Given the description of an element on the screen output the (x, y) to click on. 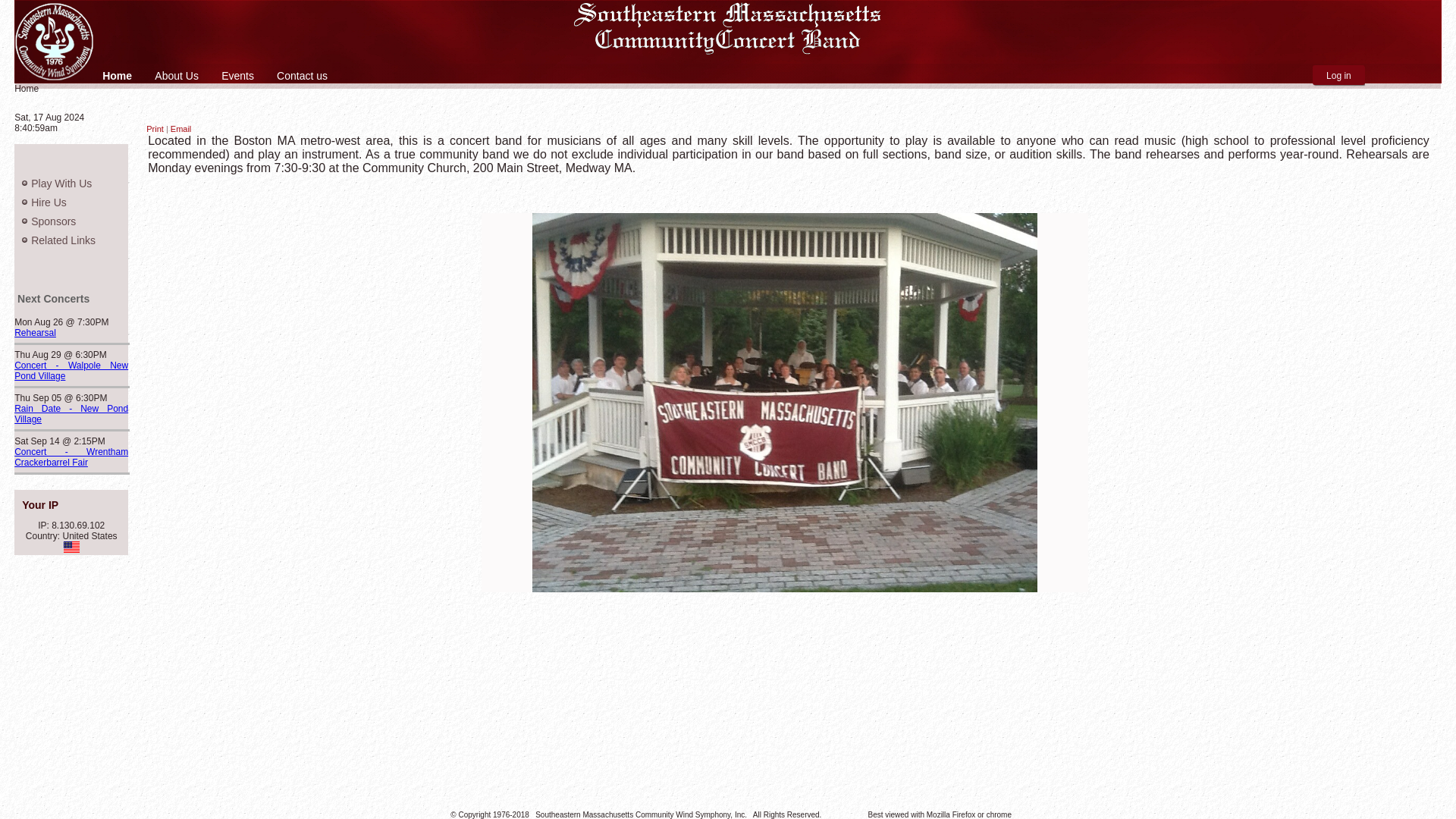
Email this link to a friend (181, 128)
Home (116, 75)
About Us (176, 75)
